Given the description of an element on the screen output the (x, y) to click on. 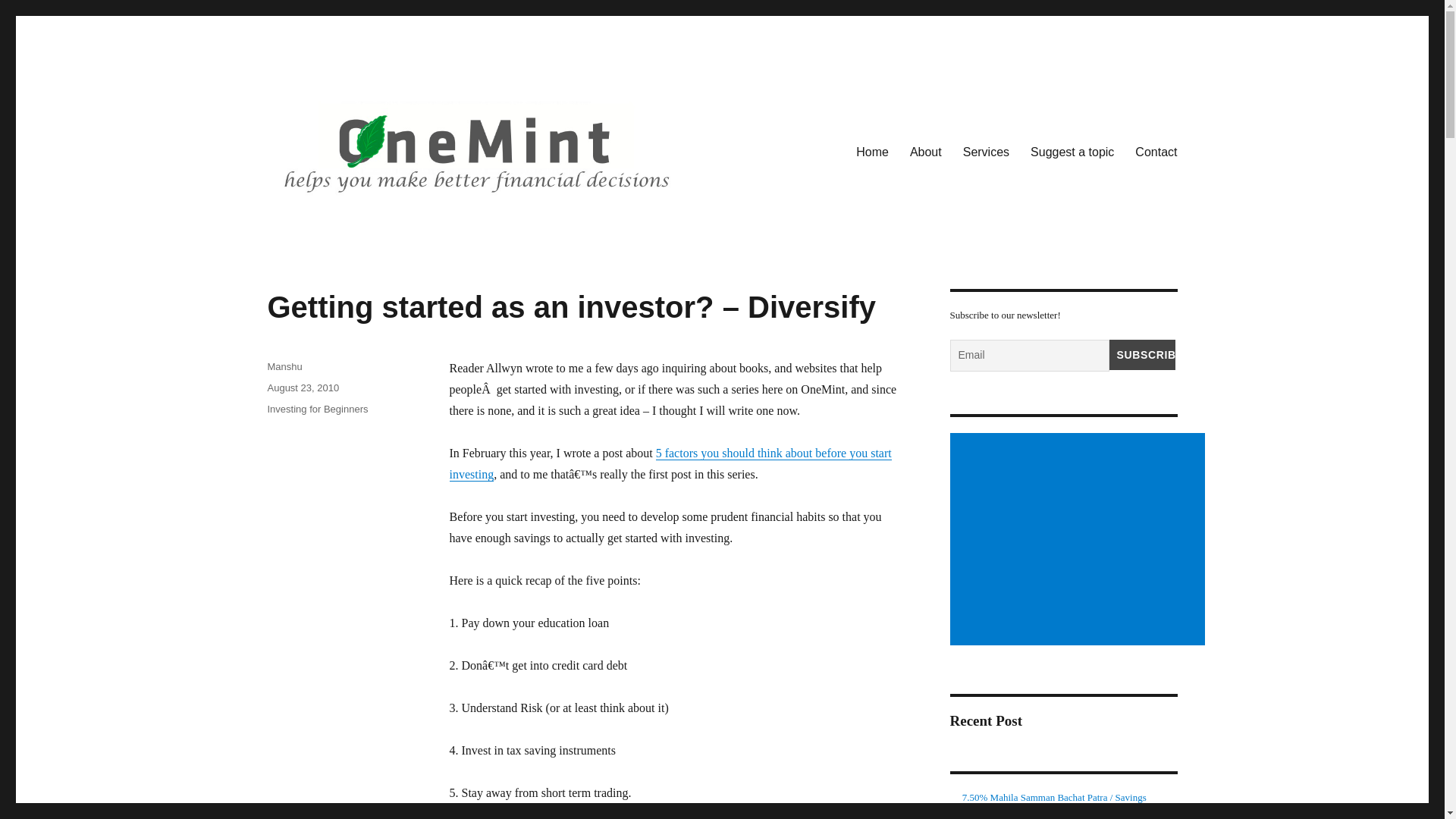
Subscribe (1141, 354)
Manshu (283, 366)
OneMint (309, 227)
August 23, 2010 (302, 387)
About (925, 152)
Contact (1156, 152)
Suggest a topic (1072, 152)
Investing for Beginners (317, 408)
Home (872, 152)
Services (986, 152)
5 factors you should think about before you start investing (669, 463)
Subscribe (1141, 354)
Advertisement (1079, 540)
